Given the description of an element on the screen output the (x, y) to click on. 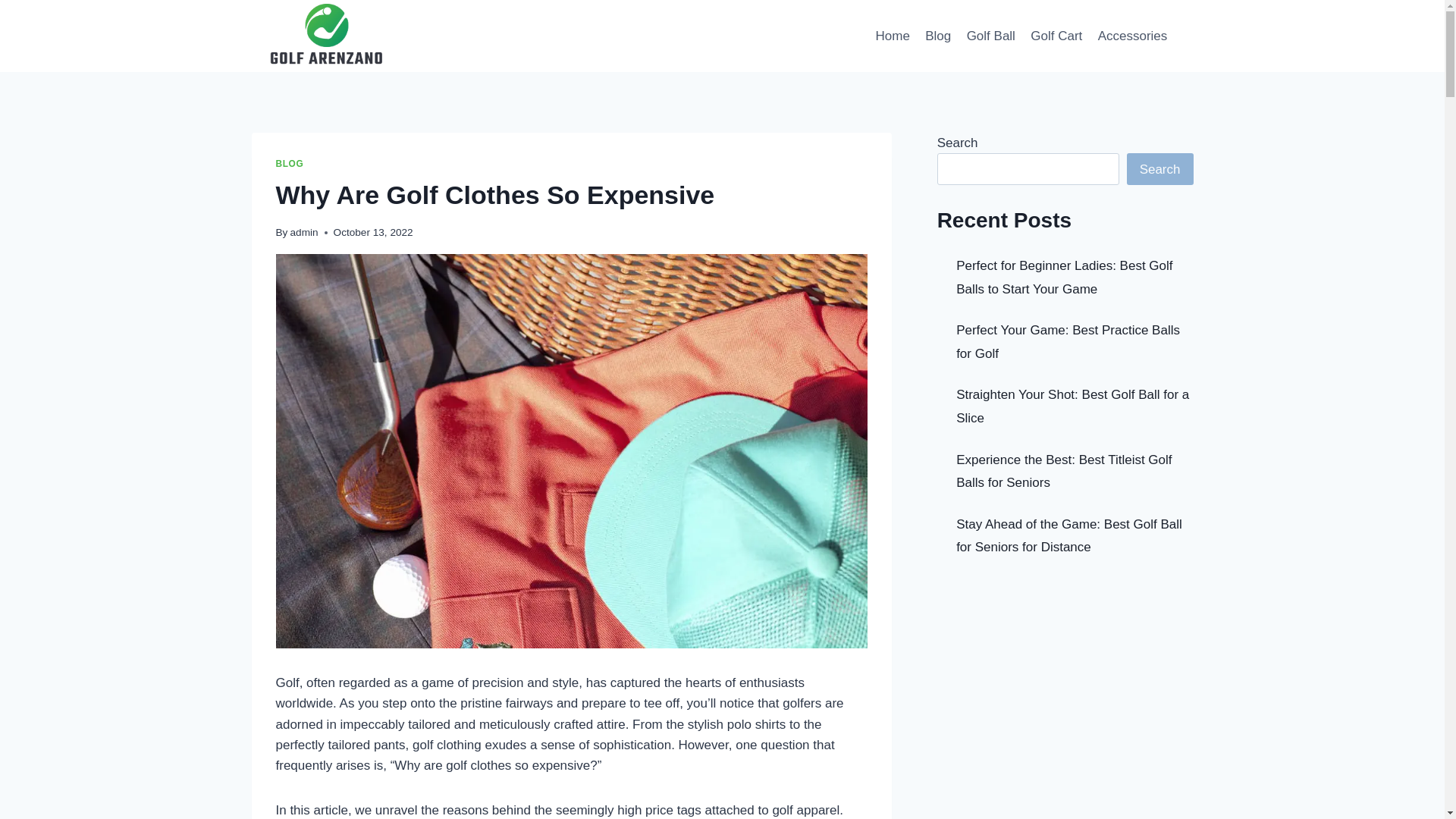
Blog (937, 35)
Golf Ball (990, 35)
Home (892, 35)
Accessories (1131, 35)
admin (303, 232)
Golf Cart (1056, 35)
BLOG (290, 163)
